Given the description of an element on the screen output the (x, y) to click on. 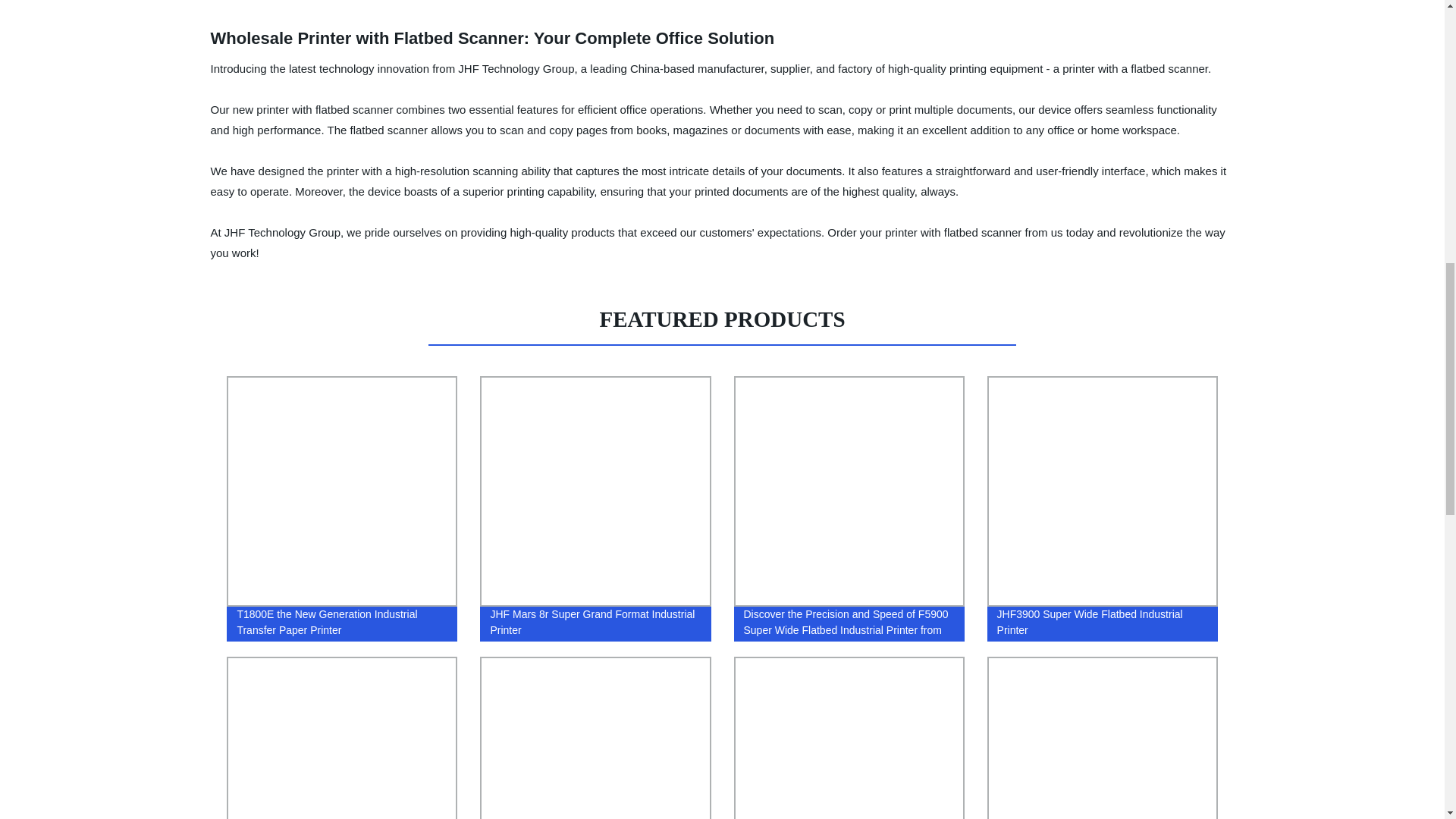
JHF Mars 8r Super Grand Format Industrial Printer (595, 508)
T1800E the New Generation Industrial Transfer Paper Printer (341, 508)
M3300 Industrial Printer (595, 734)
JHF3900 Super Wide Flatbed Industrial Printer (1101, 508)
